Given the description of an element on the screen output the (x, y) to click on. 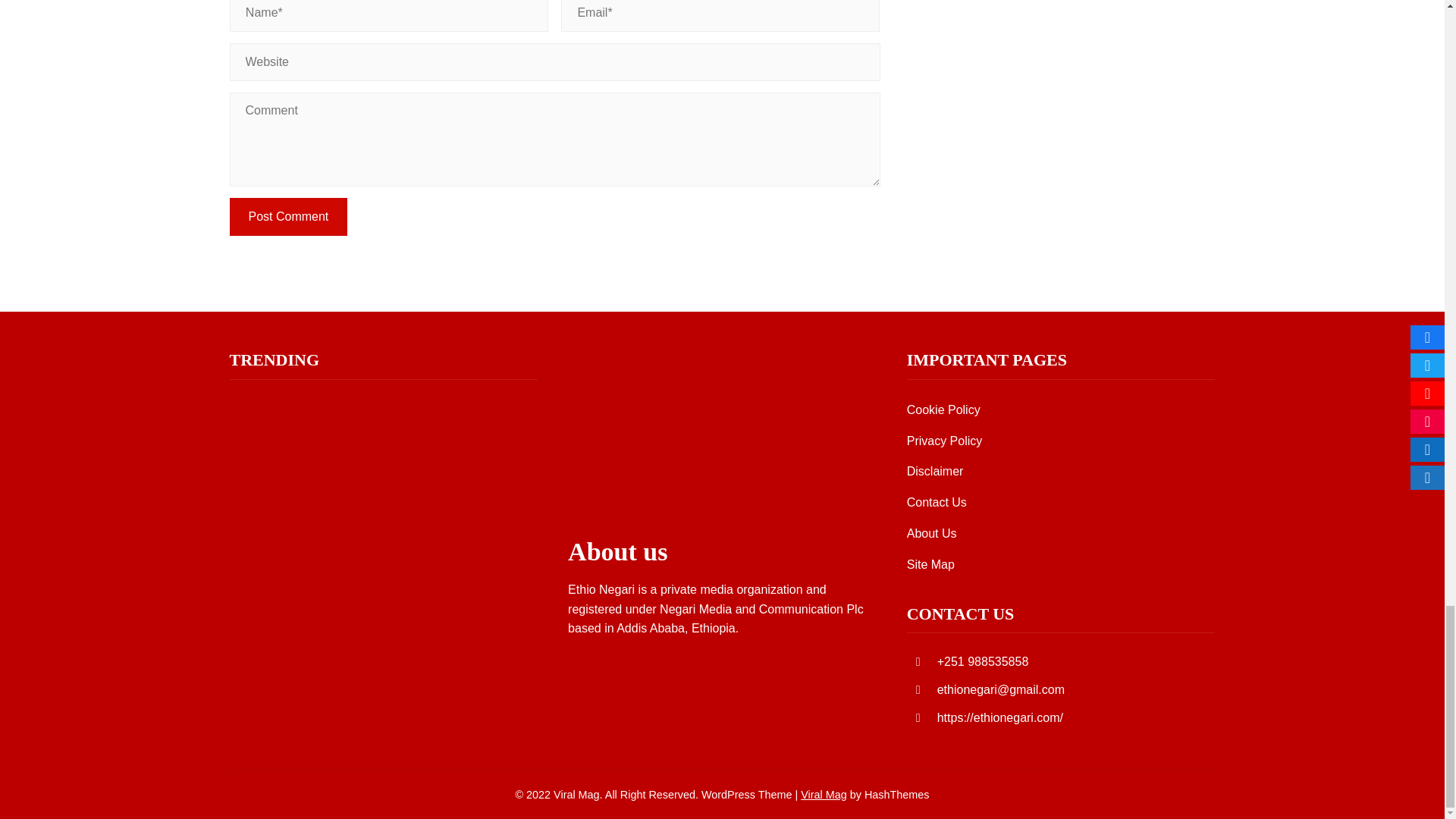
Post Comment (287, 216)
Download Viral News (823, 793)
Post Comment (287, 216)
